Given the description of an element on the screen output the (x, y) to click on. 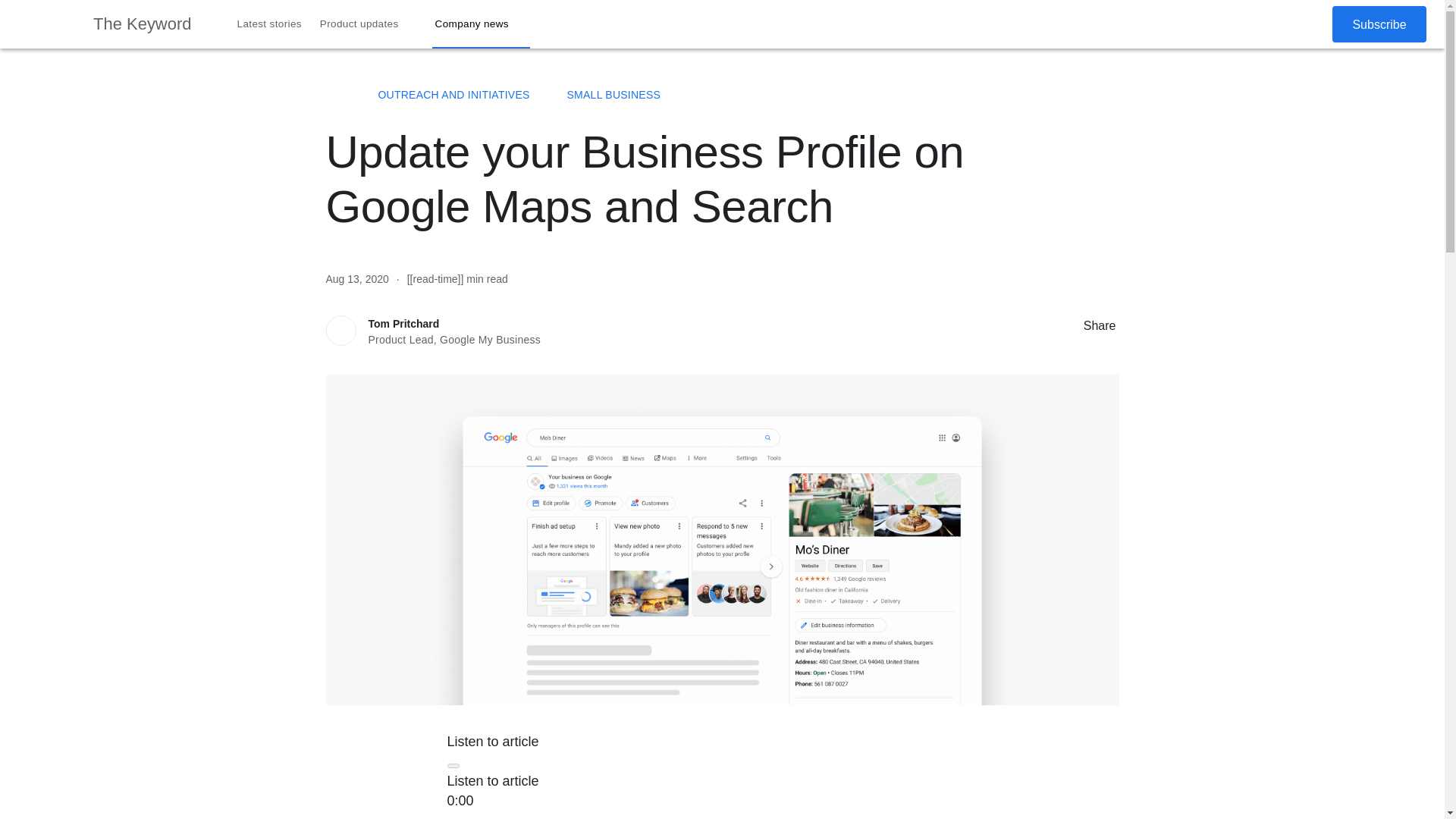
The Keyword (142, 24)
Product updates (368, 24)
Google (46, 24)
Latest stories (269, 24)
OUTREACH AND INITIATIVES SMALL BUSINESS (722, 94)
Share (1068, 325)
The Keyword (333, 94)
